Given the description of an element on the screen output the (x, y) to click on. 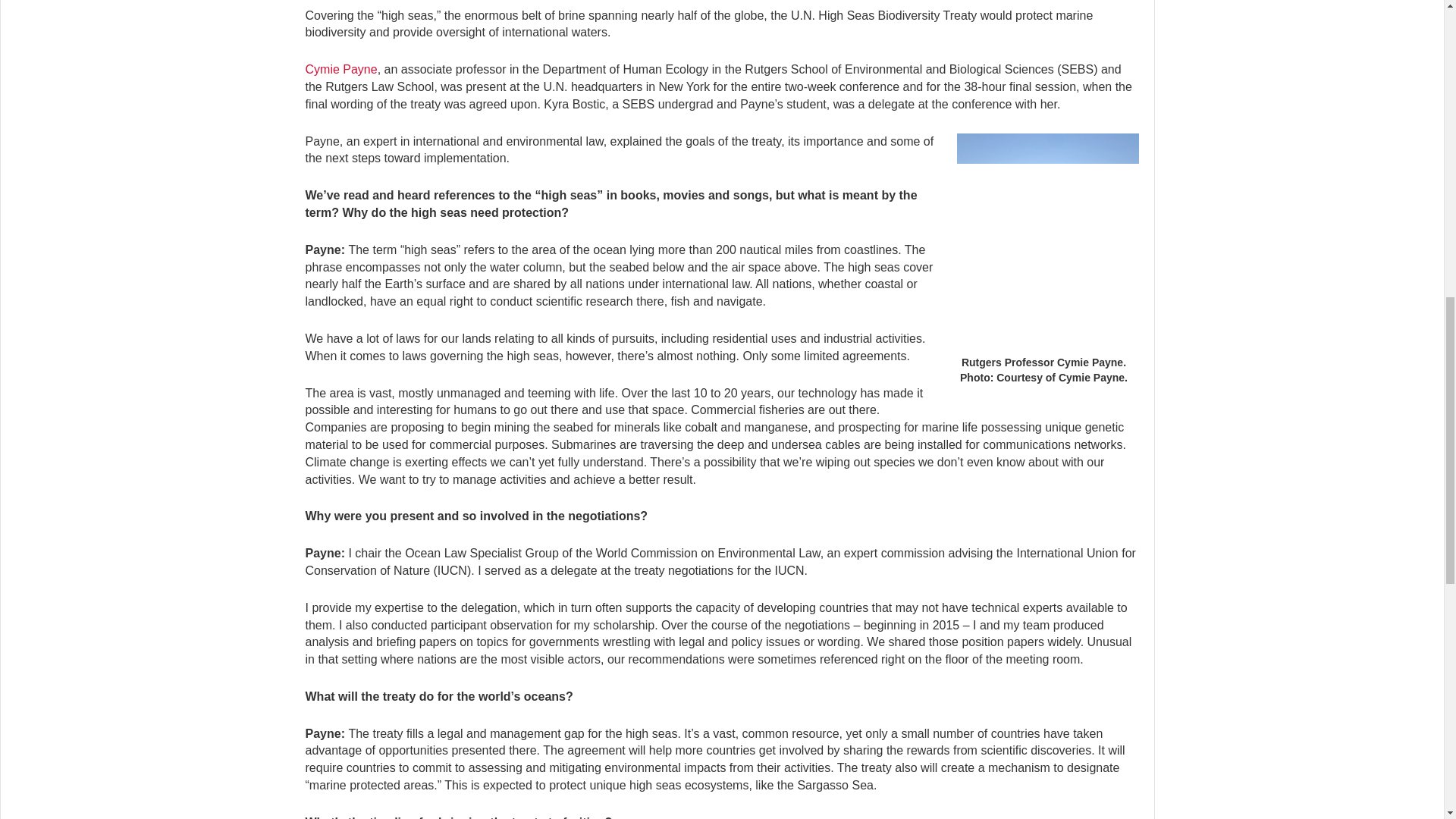
Cymie Payne (340, 69)
